Given the description of an element on the screen output the (x, y) to click on. 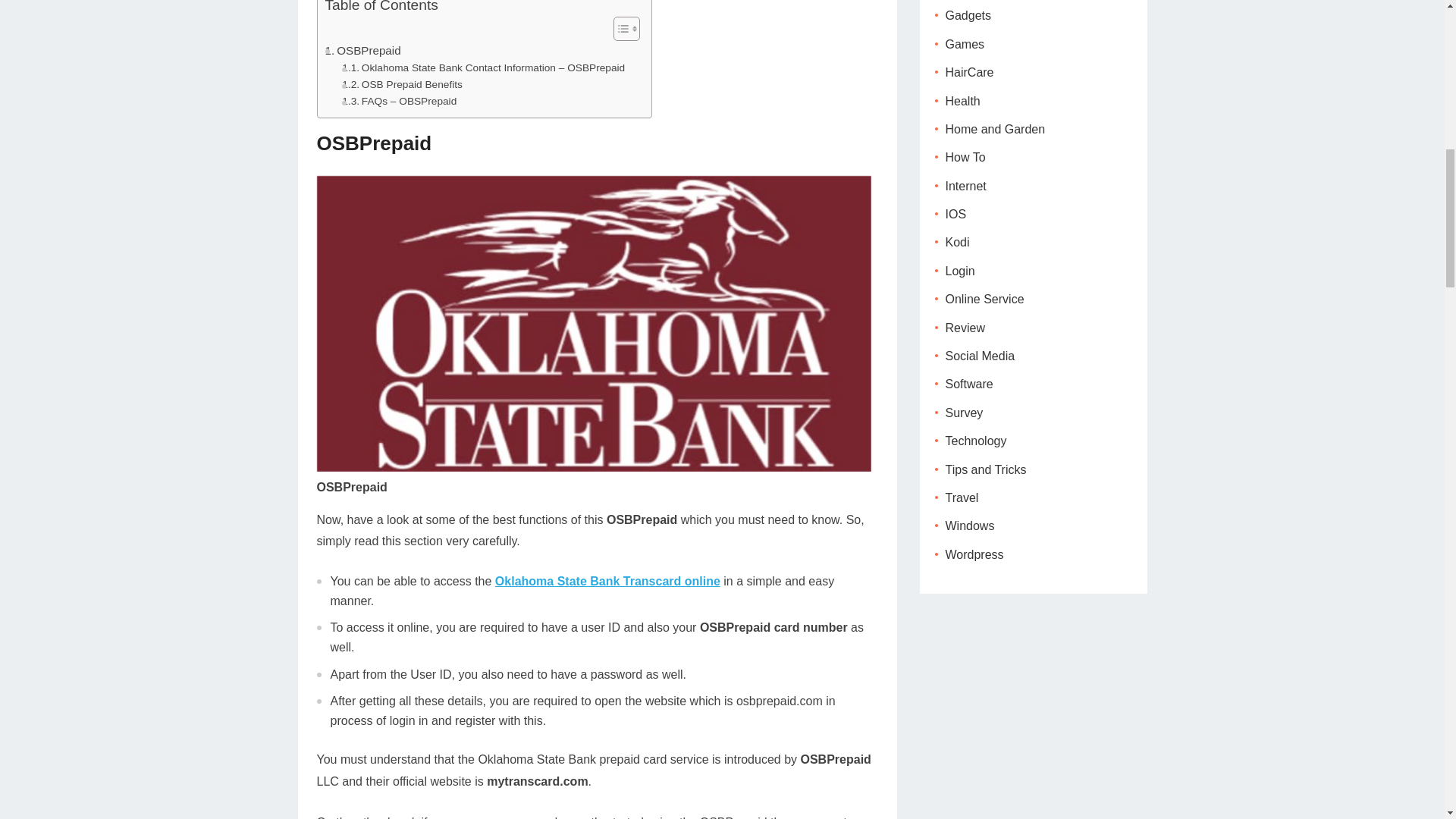
OSB Prepaid Benefits (402, 84)
OSBPrepaid (362, 50)
OSBPrepaid (362, 50)
OSB Prepaid Benefits (402, 84)
